Given the description of an element on the screen output the (x, y) to click on. 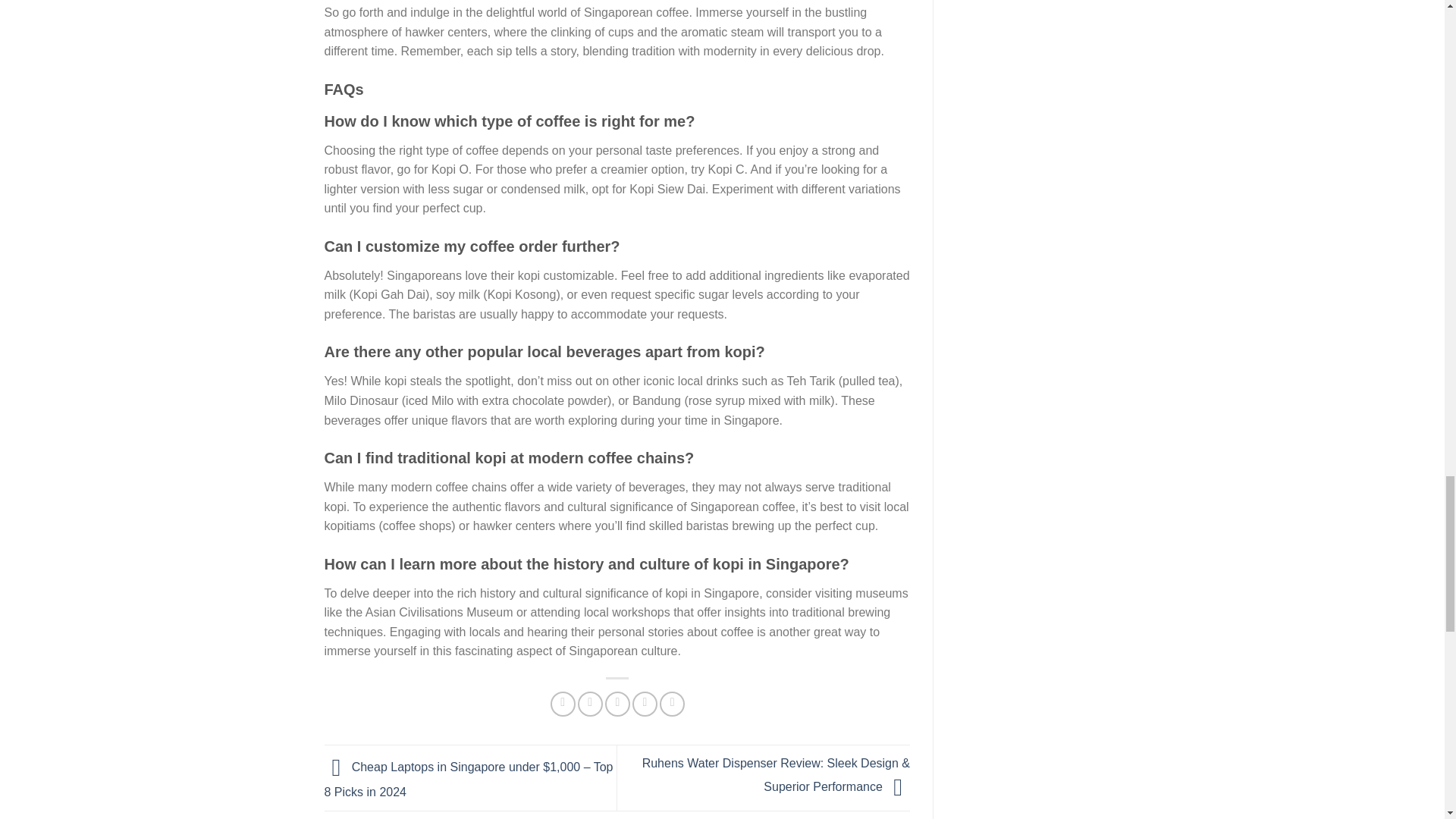
Pin on Pinterest (644, 703)
Share on Twitter (590, 703)
Share on Facebook (562, 703)
Email to a Friend (617, 703)
Share on LinkedIn (671, 703)
